Given the description of an element on the screen output the (x, y) to click on. 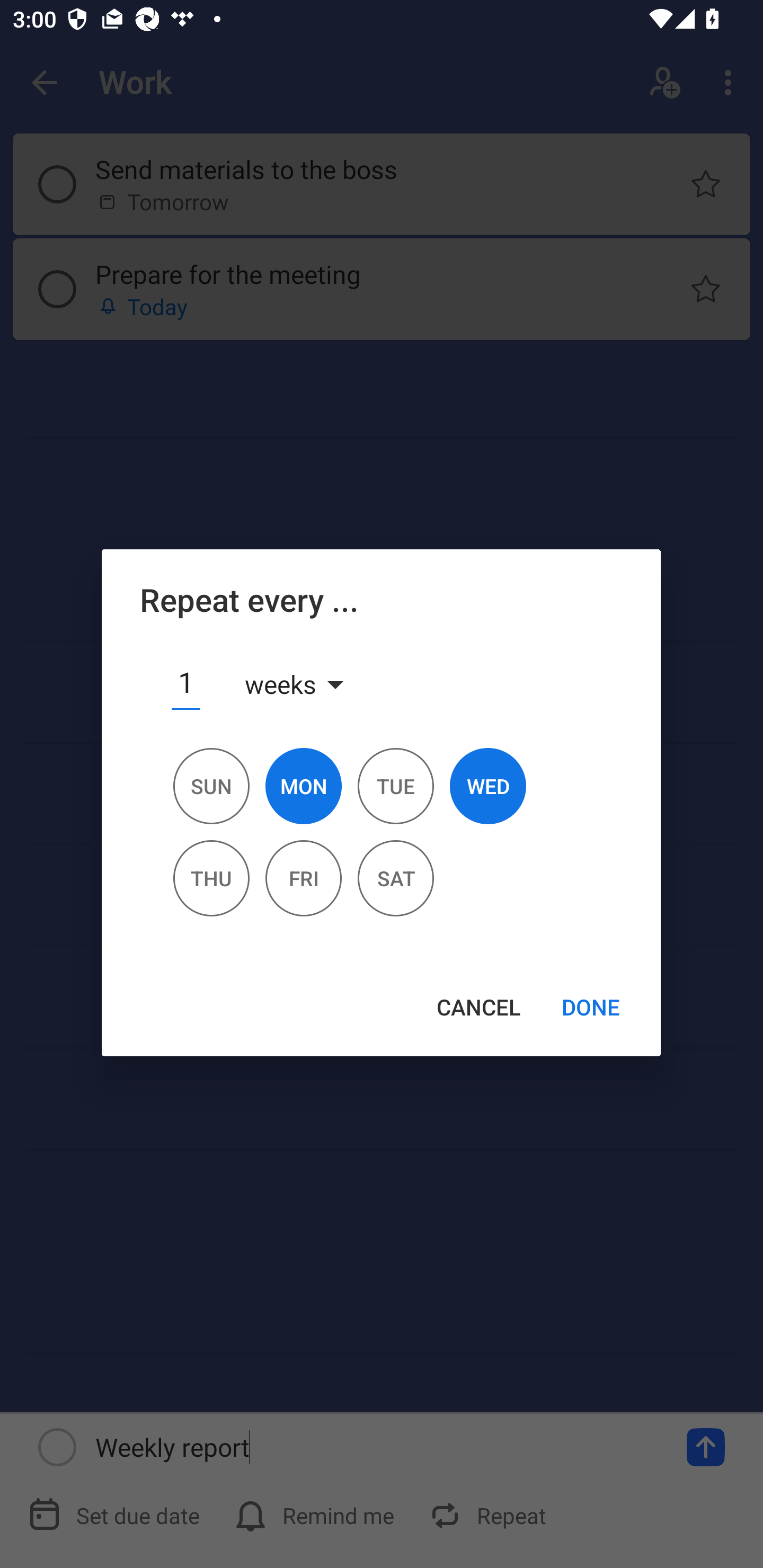
WED Wednesday (487, 793)
